Given the description of an element on the screen output the (x, y) to click on. 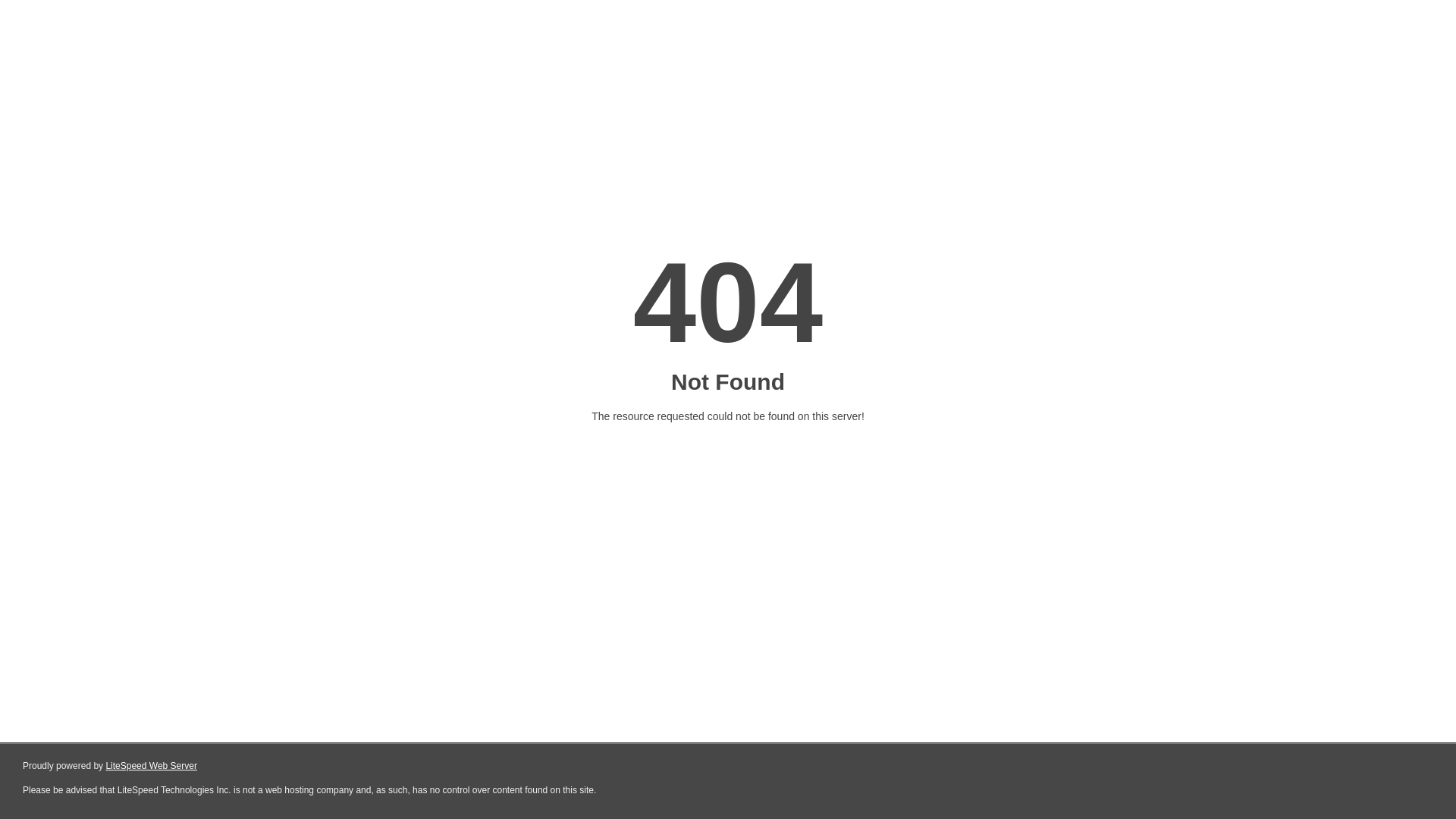
LiteSpeed Web Server Element type: text (151, 765)
